Given the description of an element on the screen output the (x, y) to click on. 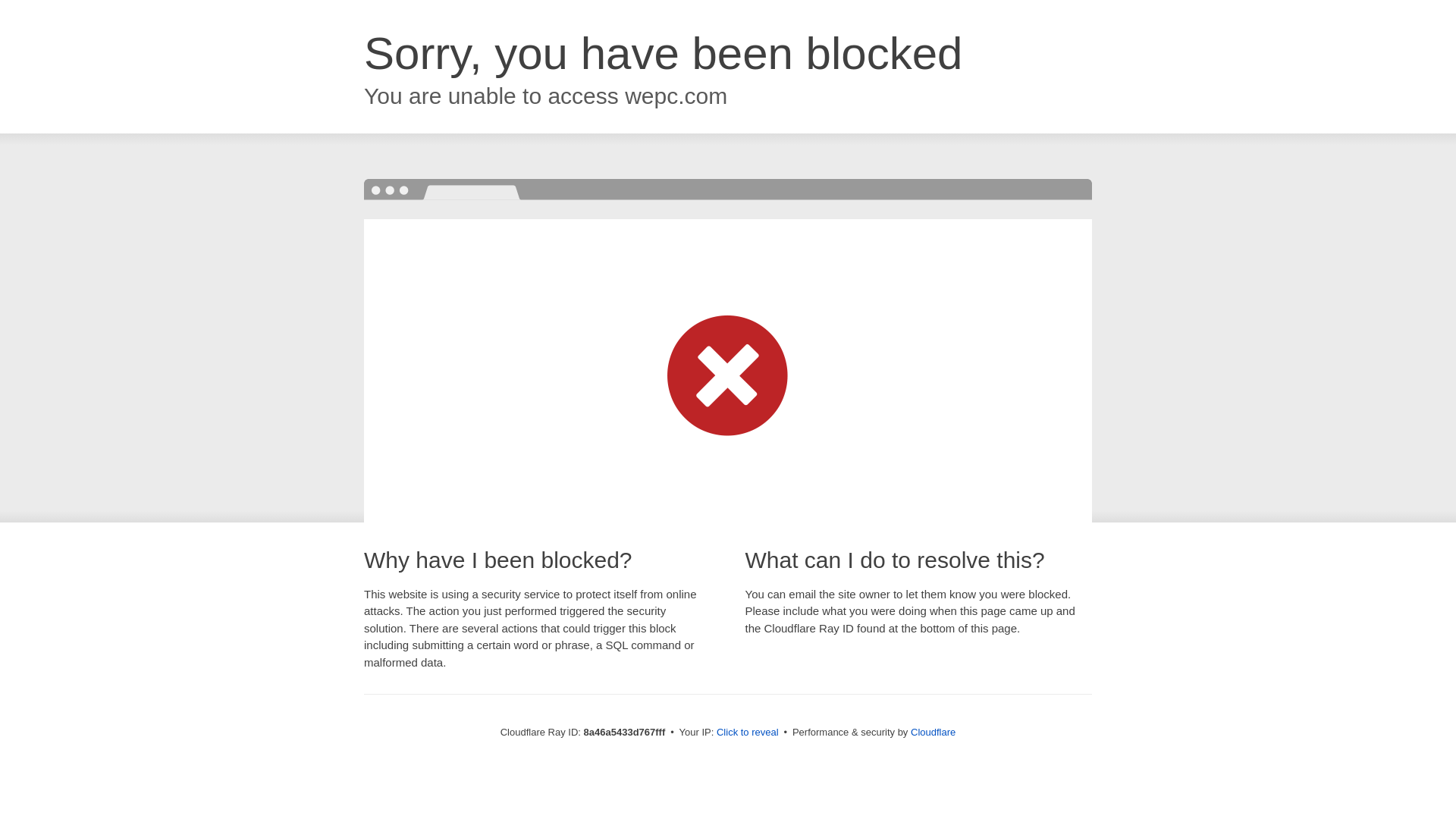
Cloudflare (933, 731)
Click to reveal (747, 732)
